Given the description of an element on the screen output the (x, y) to click on. 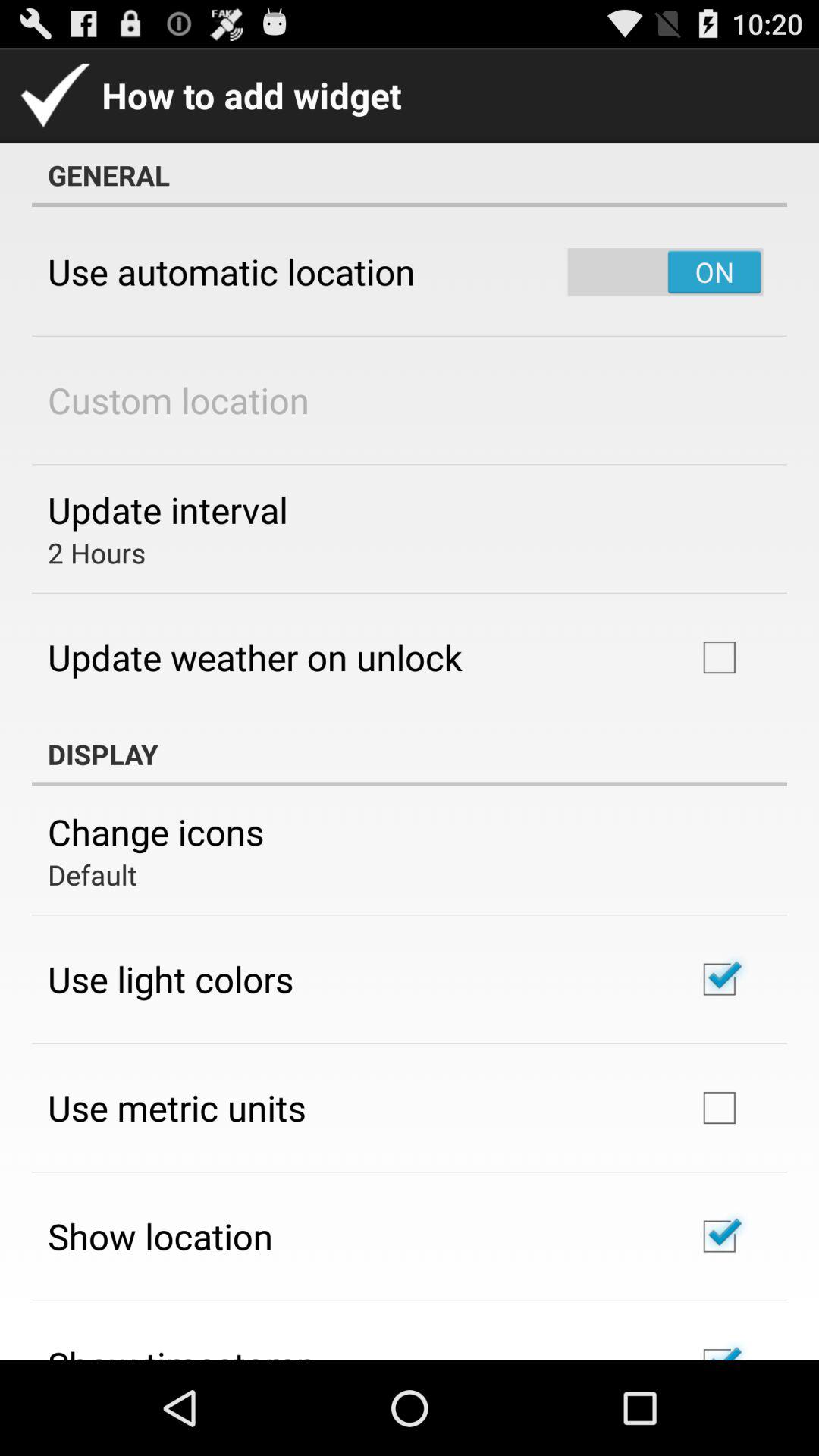
launch the icon below use light colors icon (176, 1107)
